Given the description of an element on the screen output the (x, y) to click on. 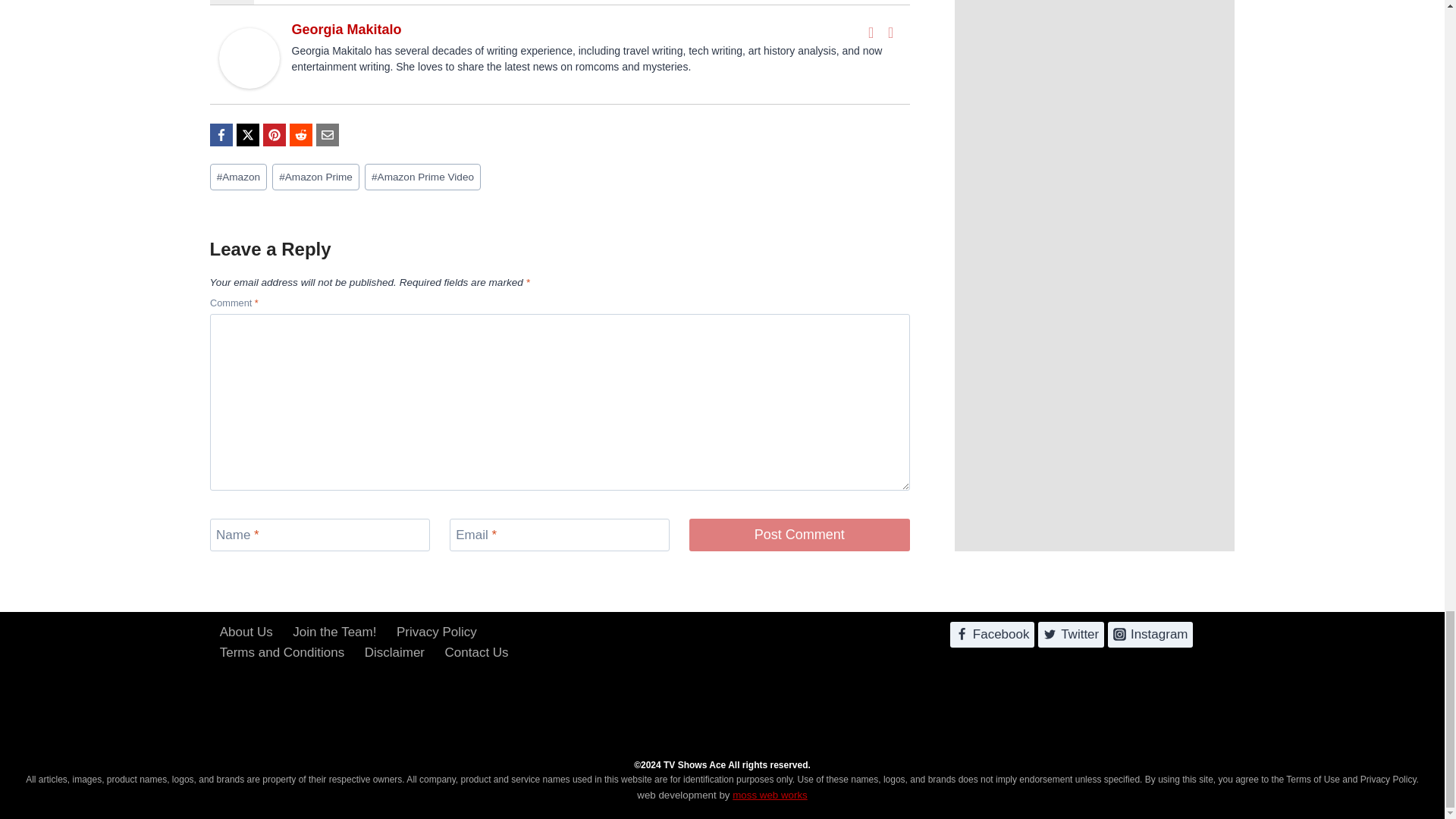
Recent Posts (293, 2)
Amazon Prime (315, 176)
Amazon (237, 176)
Amazon Prime Video (422, 176)
Post Comment (799, 534)
Twitter (890, 32)
Author (231, 2)
Georgia Makitalo (346, 29)
Georgia Makitalo (248, 57)
Facebook (870, 32)
